Given the description of an element on the screen output the (x, y) to click on. 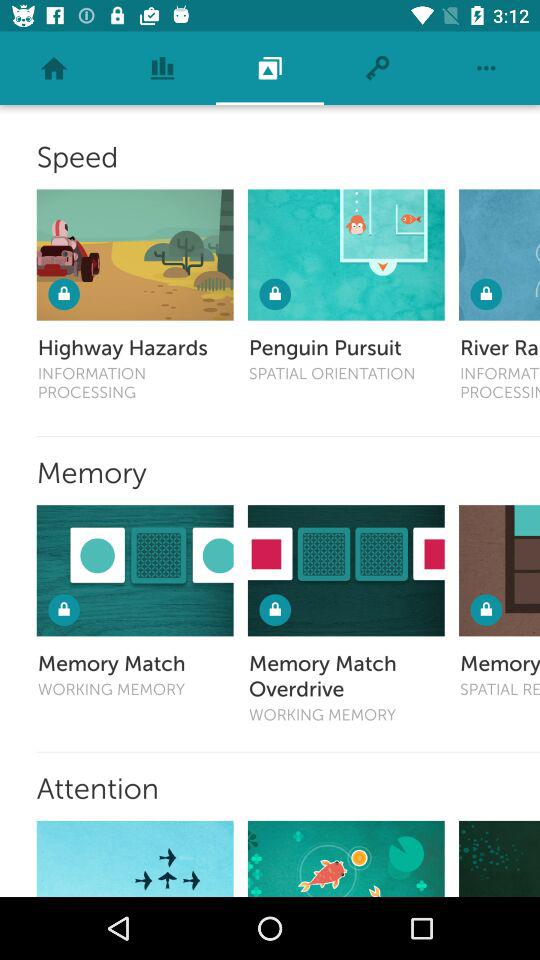
play speed game (499, 254)
